Given the description of an element on the screen output the (x, y) to click on. 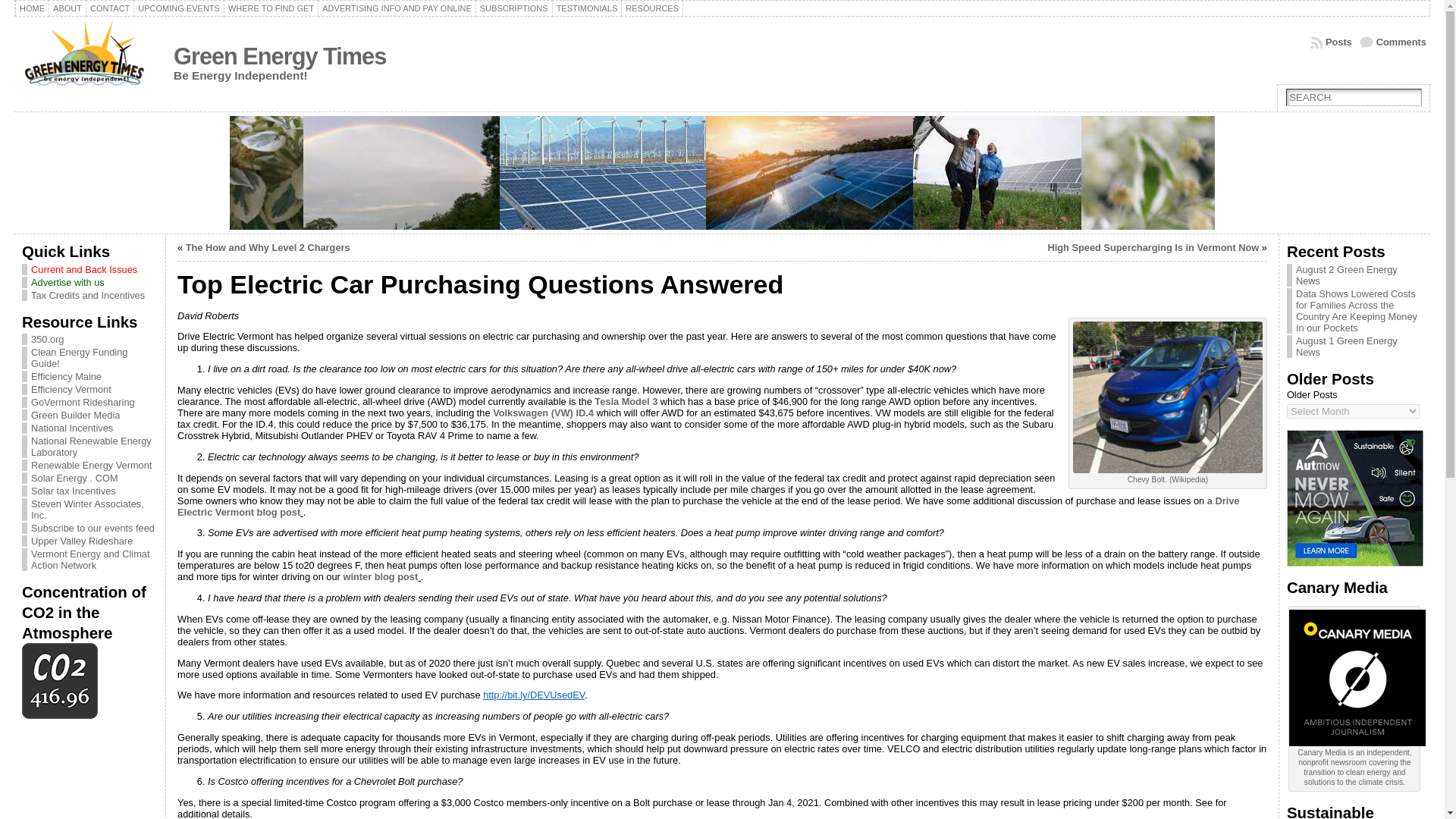
VT Statewide Carpooling (82, 401)
Tesla Model 3 (626, 401)
Subscribe to the POSTS feed (1331, 42)
TESTIMONIALS (587, 8)
Upper Valley Rideshare (81, 541)
WHERE TO FIND GET (271, 8)
a Drive Electric Vermont blog post (708, 506)
Subscribe to our events feed (92, 527)
National Renewable Energy Laboratory (90, 445)
SEARCH (1353, 97)
